Given the description of an element on the screen output the (x, y) to click on. 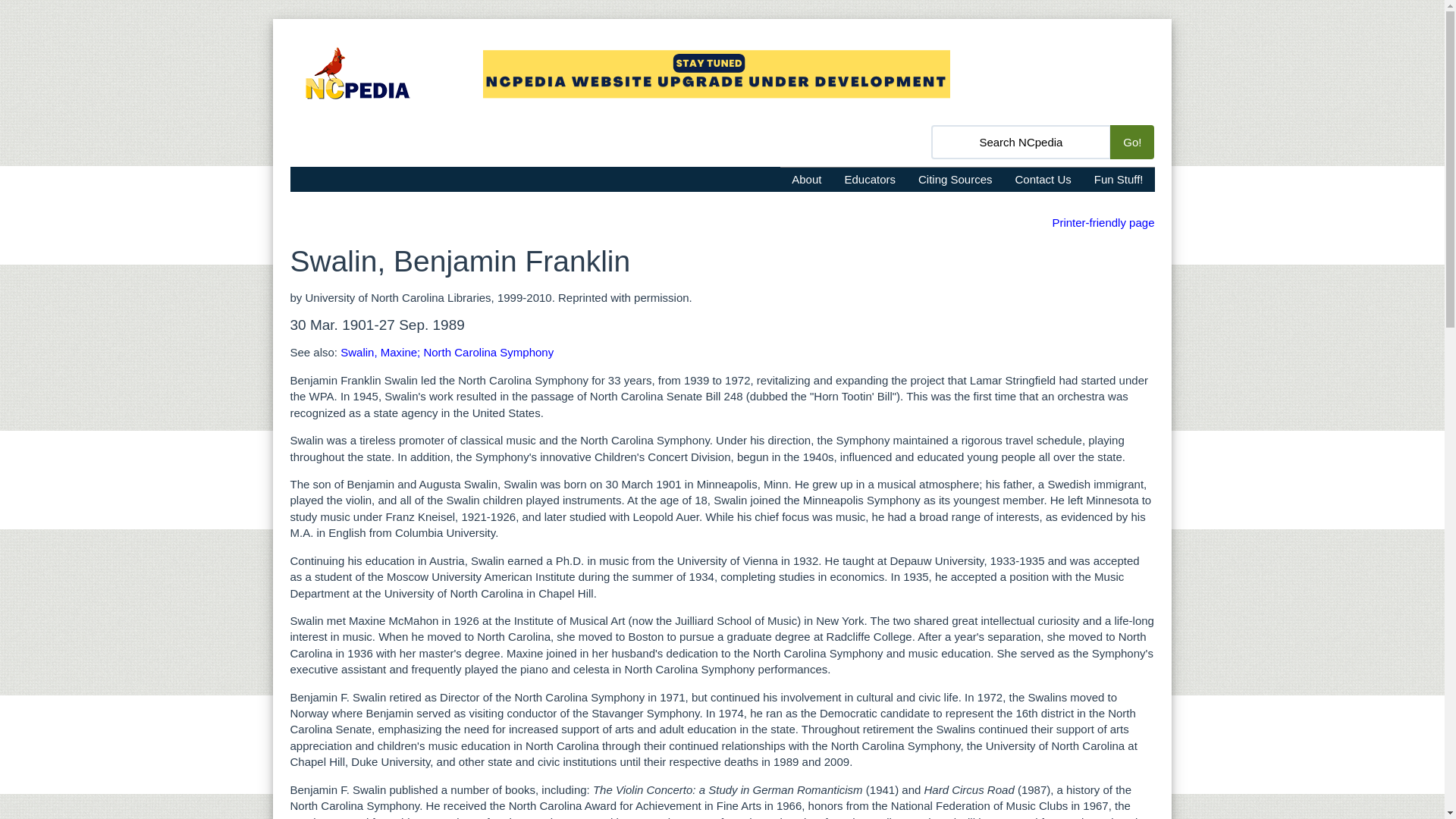
About (806, 178)
Printer-friendly page (1102, 222)
Display a PDF version of this page. (1102, 222)
Citing Sources (955, 178)
Contact Us (1043, 178)
Educators (869, 178)
Fun Stuff! (1118, 178)
Go! (1131, 141)
Swalin, Maxine; (380, 351)
